Given the description of an element on the screen output the (x, y) to click on. 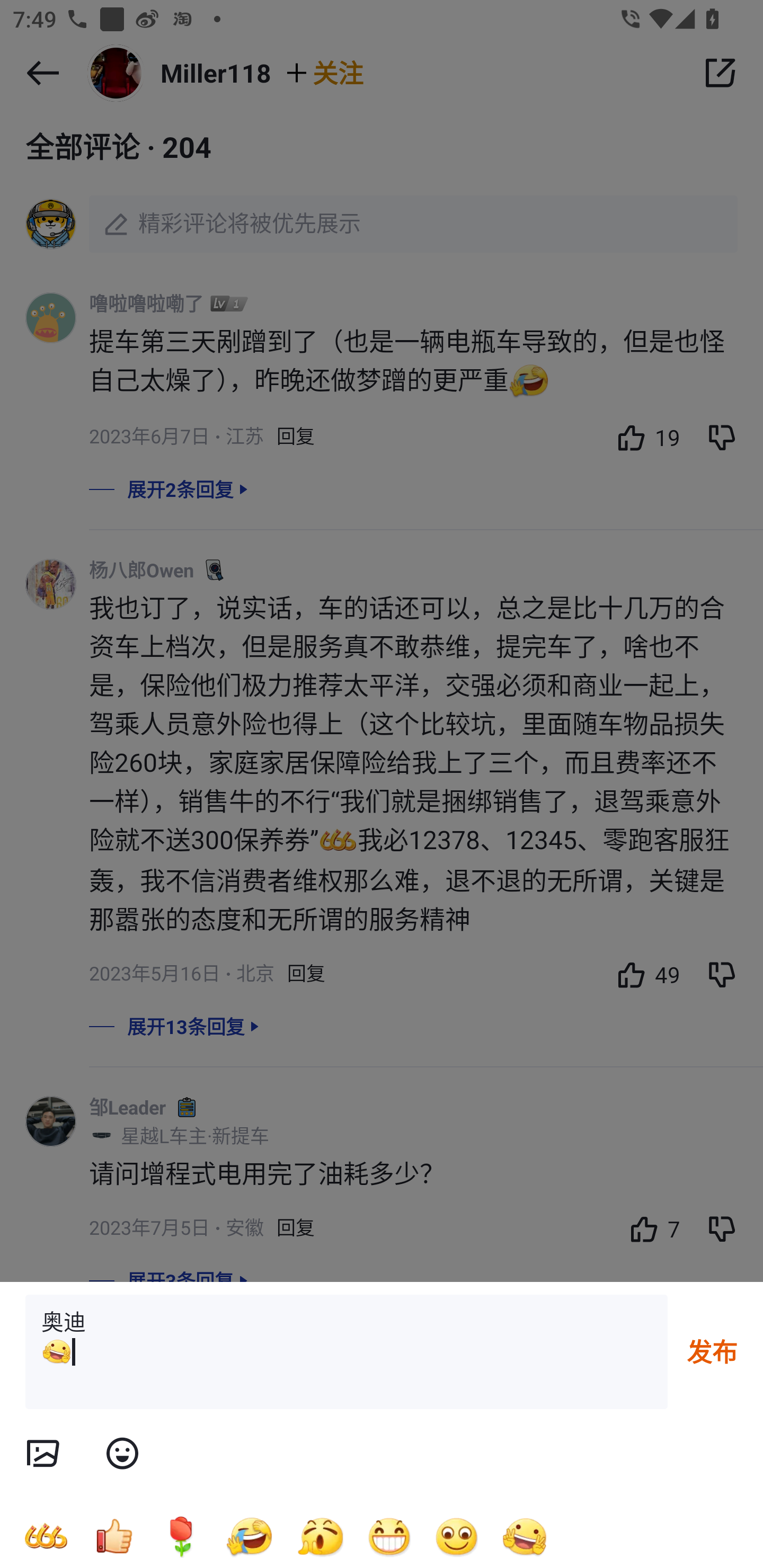
奥迪
[耶] (346, 1352)
发布 (711, 1351)
 (42, 1453)
 (122, 1453)
[666] (45, 1535)
[赞] (112, 1535)
[玫瑰] (180, 1535)
[我想静静] (249, 1535)
[小鼓掌] (320, 1535)
[呲牙] (389, 1535)
[微笑] (456, 1535)
[耶] (524, 1535)
